Given the description of an element on the screen output the (x, y) to click on. 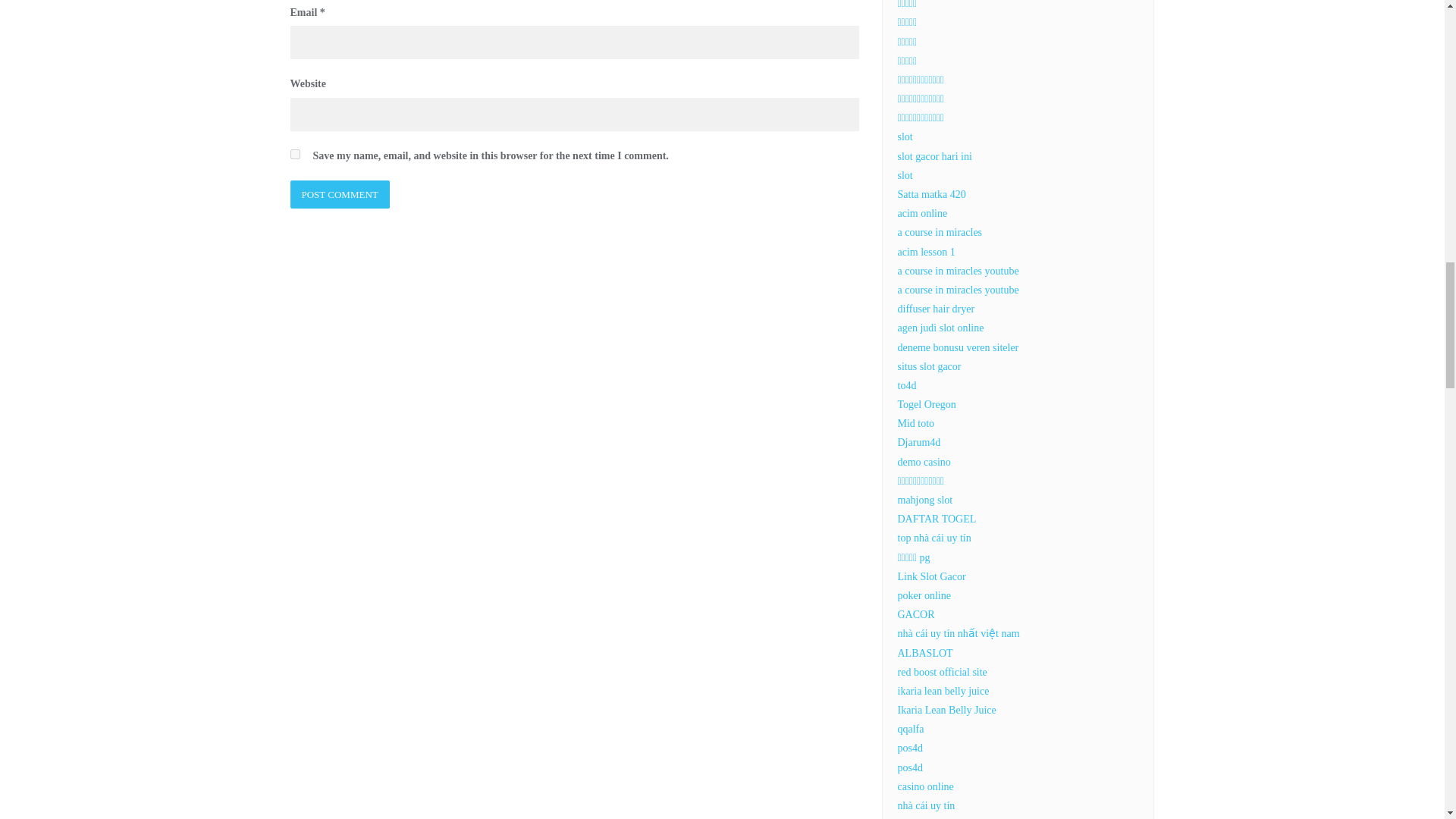
Post Comment (338, 194)
yes (294, 153)
Post Comment (338, 194)
